Given the description of an element on the screen output the (x, y) to click on. 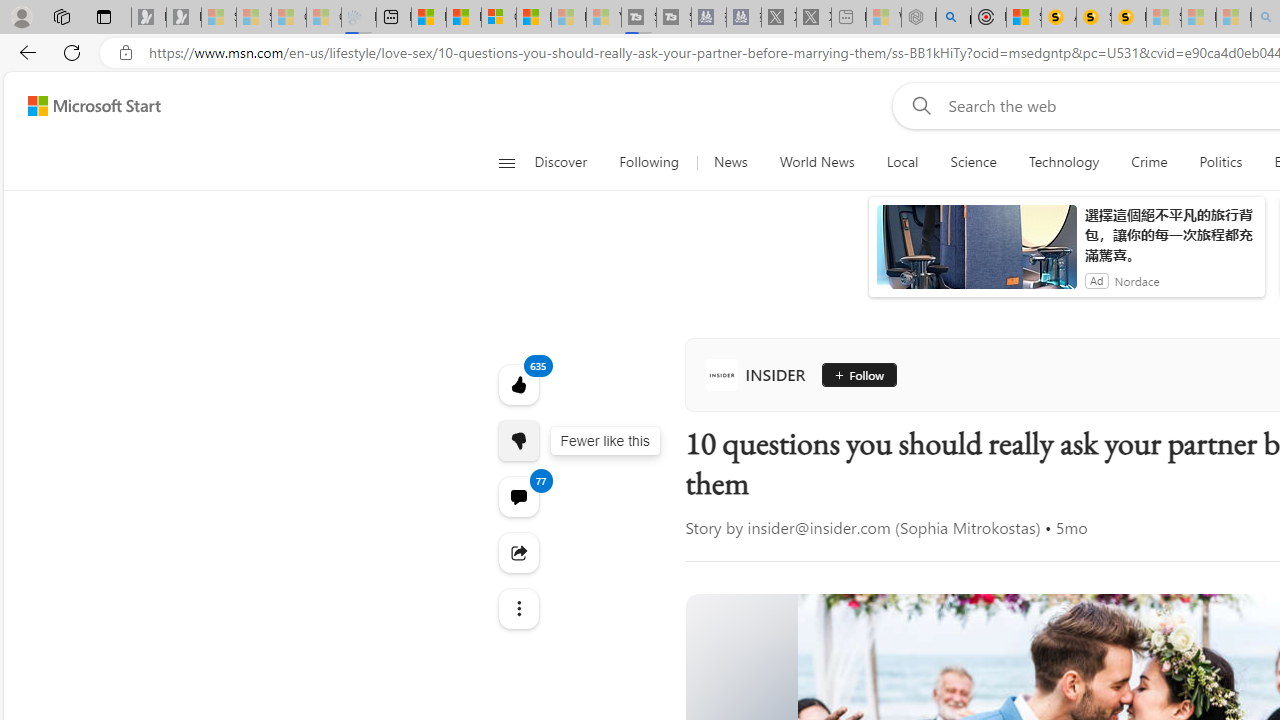
Open navigation menu (506, 162)
Wildlife - MSN - Sleeping (883, 17)
Share this story (517, 552)
Web search (917, 105)
More like this635Fewer like thisFewer like thisView comments (517, 440)
Following (648, 162)
Crime (1149, 162)
Microsoft Start - Sleeping (568, 17)
Back (24, 52)
Skip to footer (82, 105)
